Given the description of an element on the screen output the (x, y) to click on. 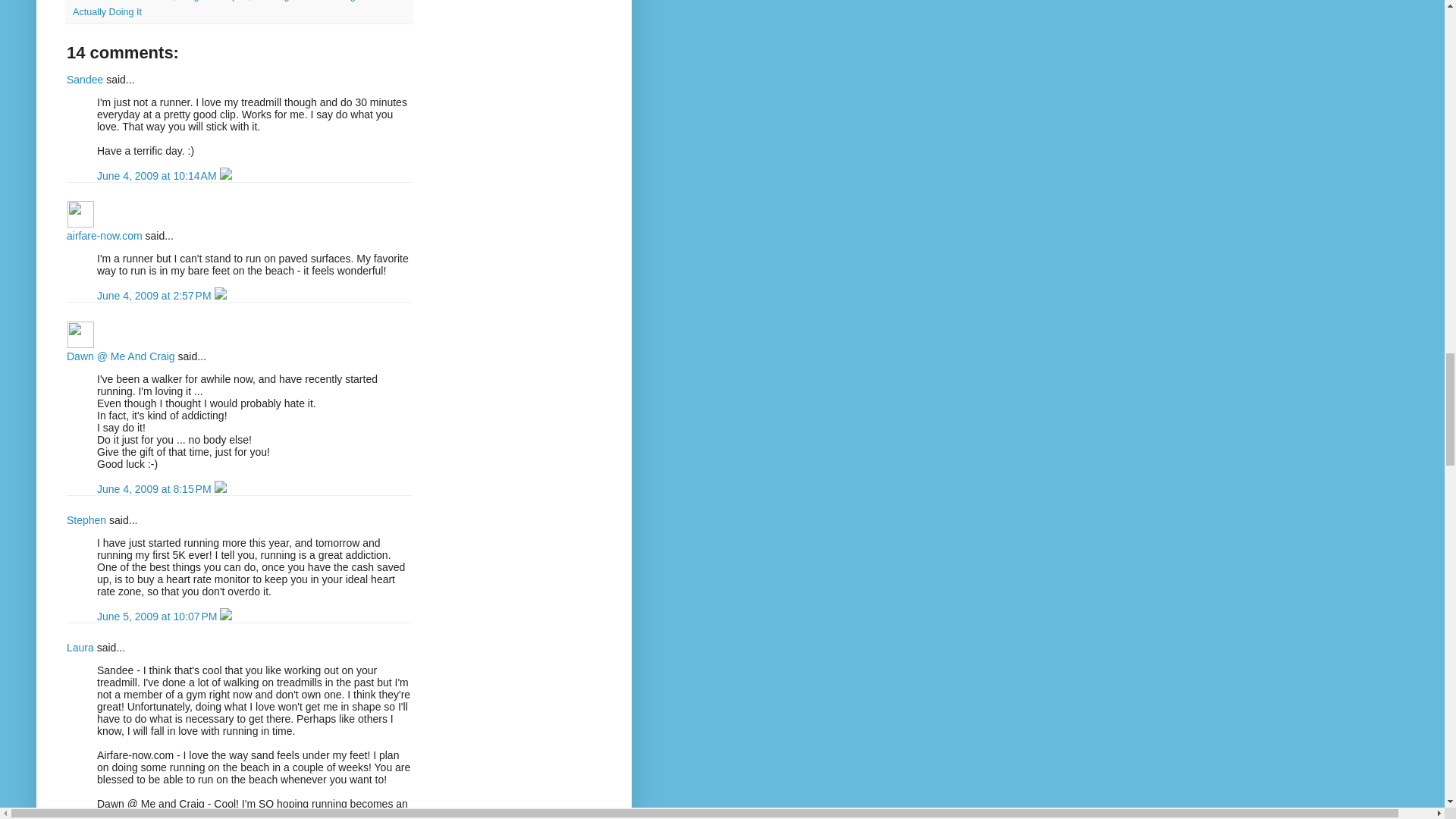
comment permalink (155, 489)
Delete Comment (225, 175)
Delete Comment (219, 295)
comment permalink (158, 175)
Progress Report (213, 0)
comment permalink (158, 616)
Running: From Thinking About It To Actually Doing It (237, 8)
airfare-now.com (80, 213)
Plantar Fasciitis (139, 0)
comment permalink (155, 295)
Delete Comment (225, 616)
Delete Comment (219, 489)
